Given the description of an element on the screen output the (x, y) to click on. 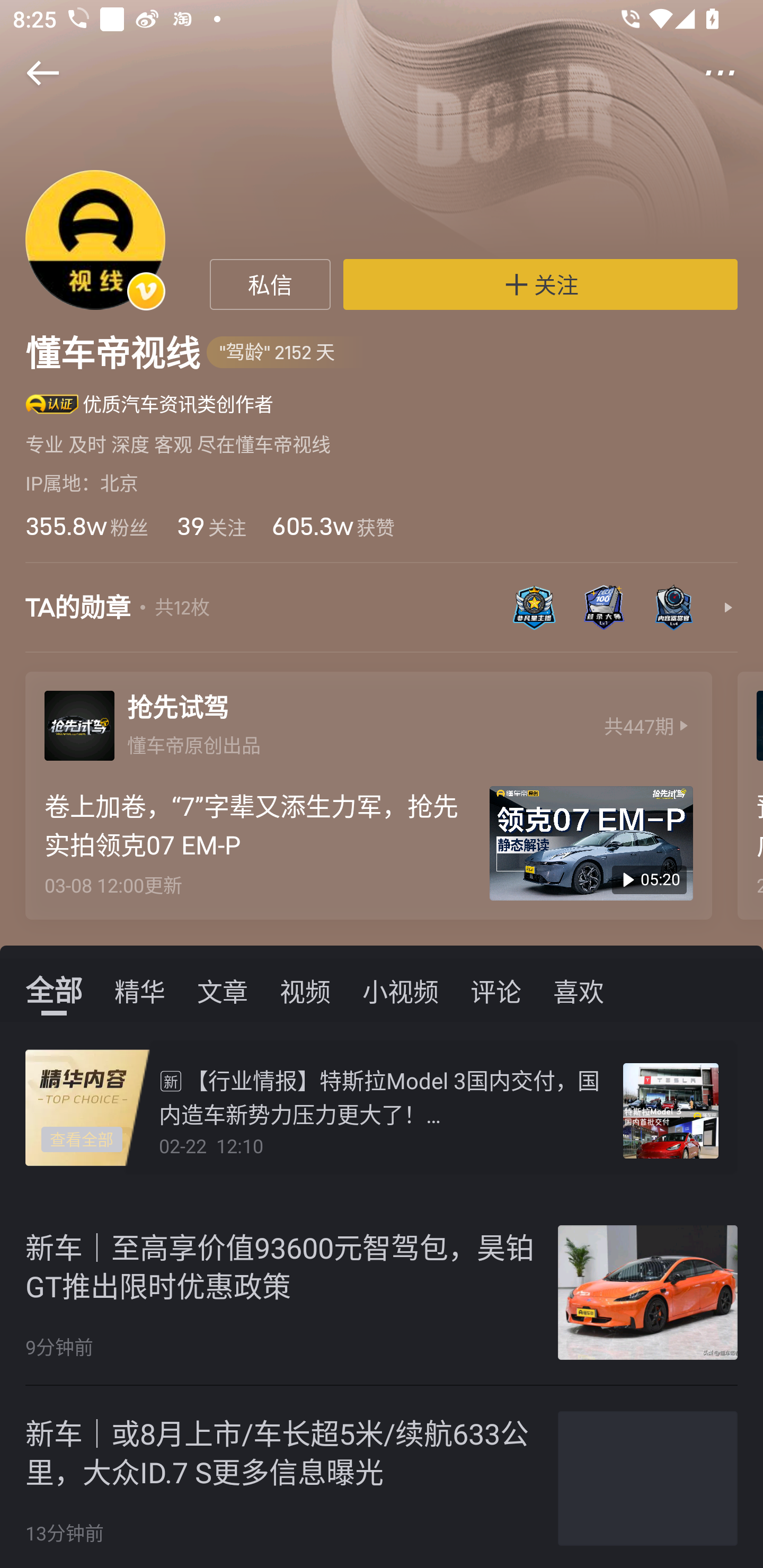
 (30, 72)
 (732, 72)
私信 (269, 284)
 关注 (540, 284)
"驾龄" 2152 天 (286, 352)
355.8w 粉丝 (86, 526)
39 关注 (209, 526)
605.3w 获赞 (332, 526)
TA的勋章 共12枚  (381, 616)
抢先试驾 懂车帝原创出品 共447期  (368, 722)
全部 (53, 990)
精华 (139, 990)
文章 (221, 990)
视频 (305, 990)
小视频 (400, 990)
评论 (495, 990)
喜欢 (578, 990)
查看全部 (81, 1139)
新车｜至高享价值93600元智驾包，昊铂GT推出限时优惠政策 9分钟前 (381, 1292)
新车｜或8月上市/车长超5米/续航633公里，大众ID.7 S更多信息曝光 13分钟前 (381, 1477)
